Given the description of an element on the screen output the (x, y) to click on. 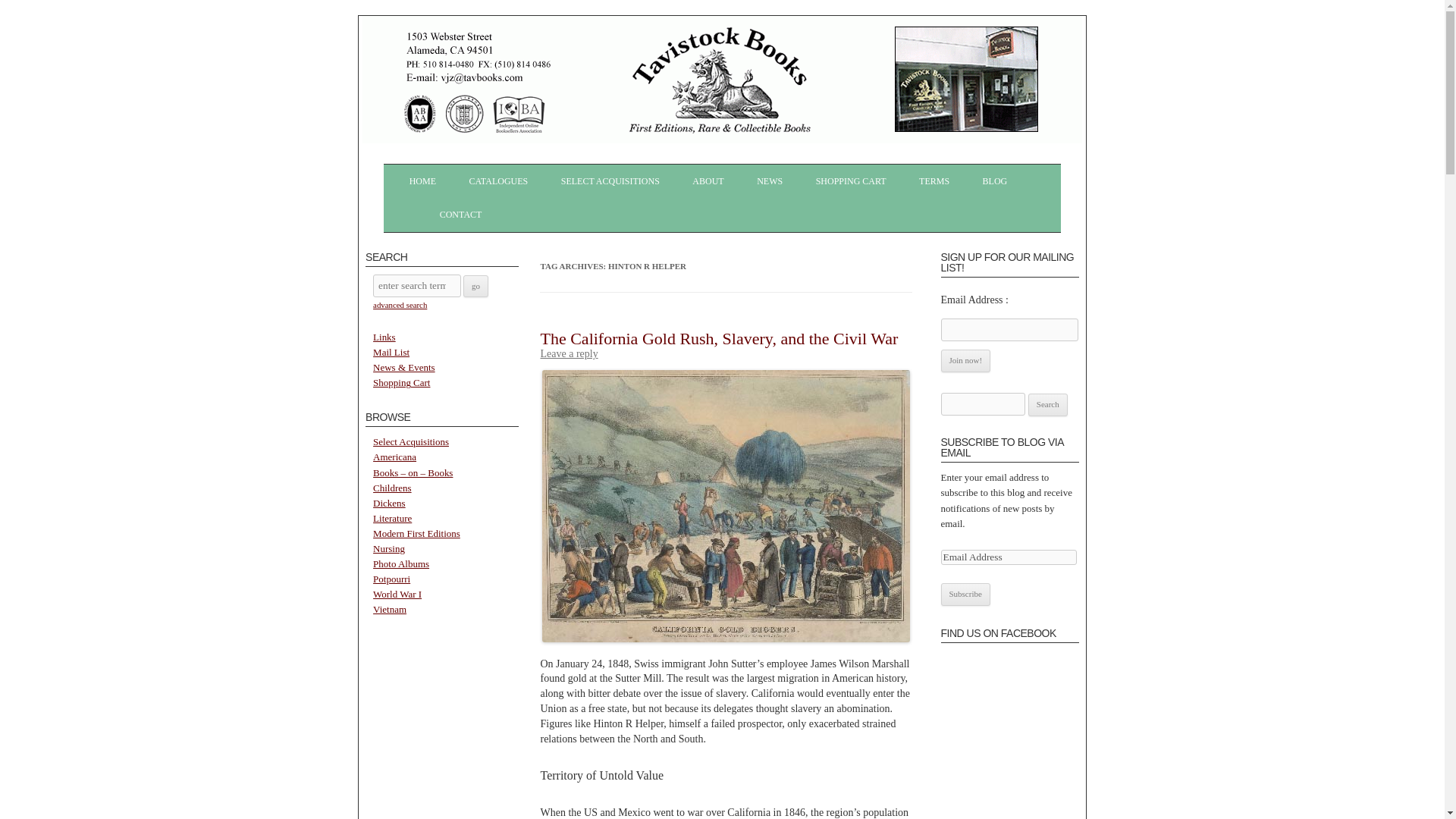
World War I (397, 593)
Skip to content (754, 168)
Subscribe (965, 594)
Links (384, 337)
Americana (394, 456)
Select Acquisitions (410, 441)
TERMS (933, 181)
Shopping Cart (400, 382)
go (475, 286)
SHOPPING CART (850, 181)
go (475, 286)
Email Address (1007, 557)
Literature (392, 518)
Vietnam (389, 609)
SELECT ACQUISITIONS (609, 181)
